Given the description of an element on the screen output the (x, y) to click on. 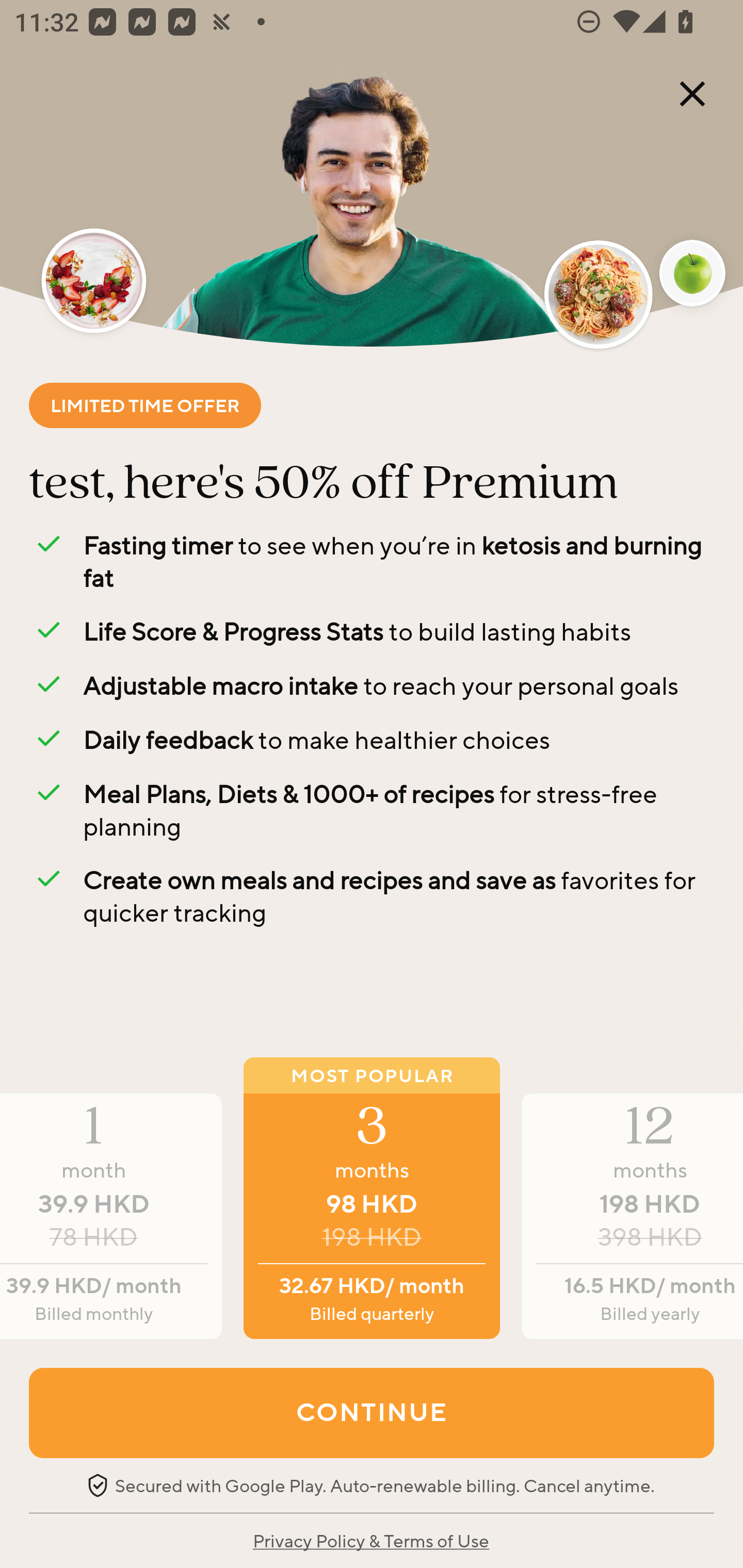
CONTINUE (371, 1412)
Privacy Policy & Terms of Use (370, 1540)
